Given the description of an element on the screen output the (x, y) to click on. 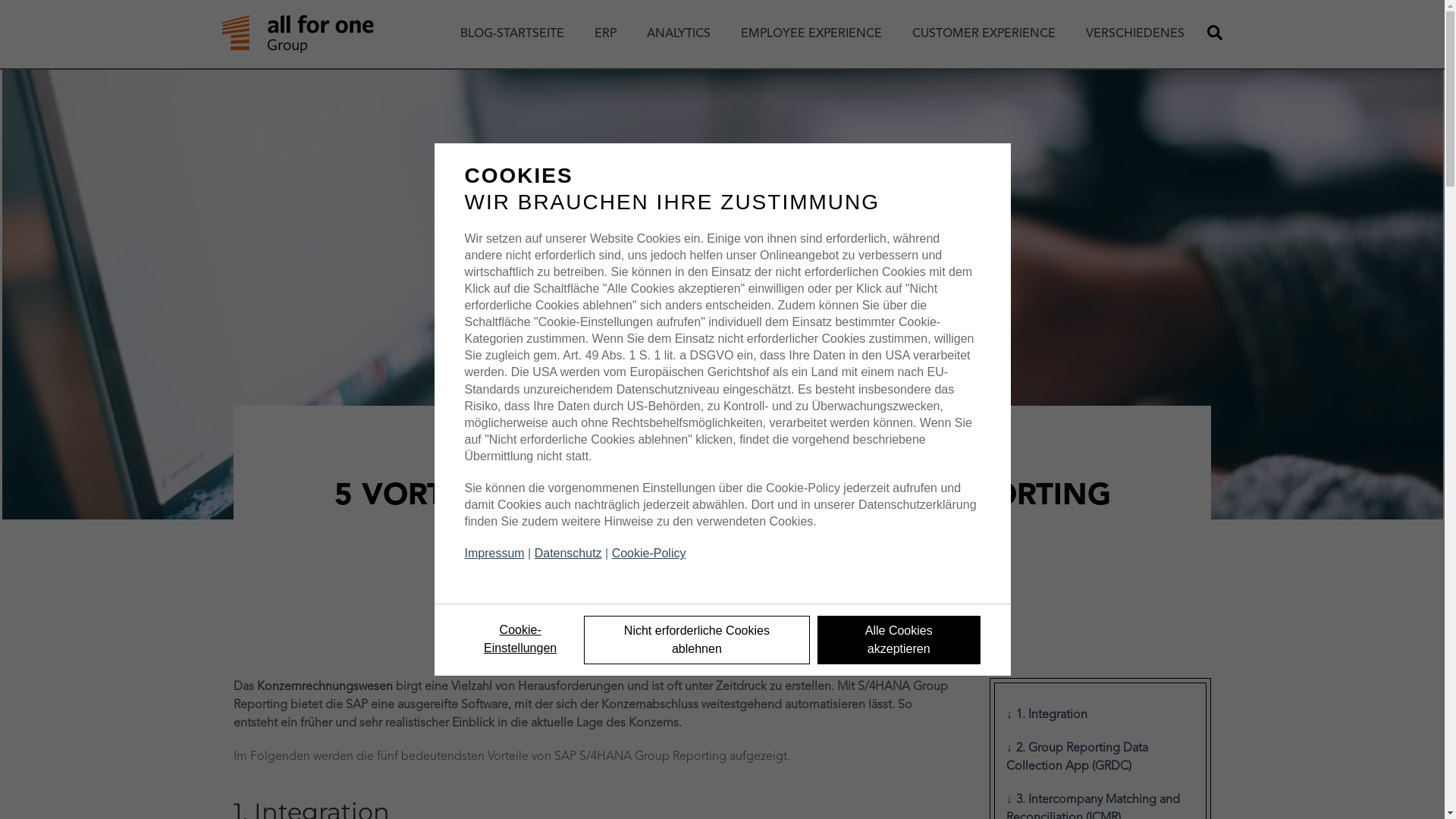
Konzernrechnungswesen Element type: text (324, 686)
Cookie-Policy Element type: text (648, 552)
BLOG-STARTSEITE Element type: text (512, 33)
Cookie-Einstellungen Element type: text (519, 638)
CUSTOMER EXPERIENCE Element type: text (983, 33)
2. Group Reporting Data Collection App (GRDC) Element type: text (1100, 757)
Impressum Element type: text (494, 552)
ERP Element type: text (605, 33)
Nicht erforderliche Cookies ablehnen Element type: text (696, 639)
ANALYTICS Element type: text (678, 33)
Datenschutz Element type: text (568, 552)
Alle Cookies akzeptieren Element type: text (898, 639)
VERSCHIEDENES Element type: text (1134, 33)
1. Integration Element type: text (1100, 715)
EMPLOYEE EXPERIENCE Element type: text (811, 33)
